Given the description of an element on the screen output the (x, y) to click on. 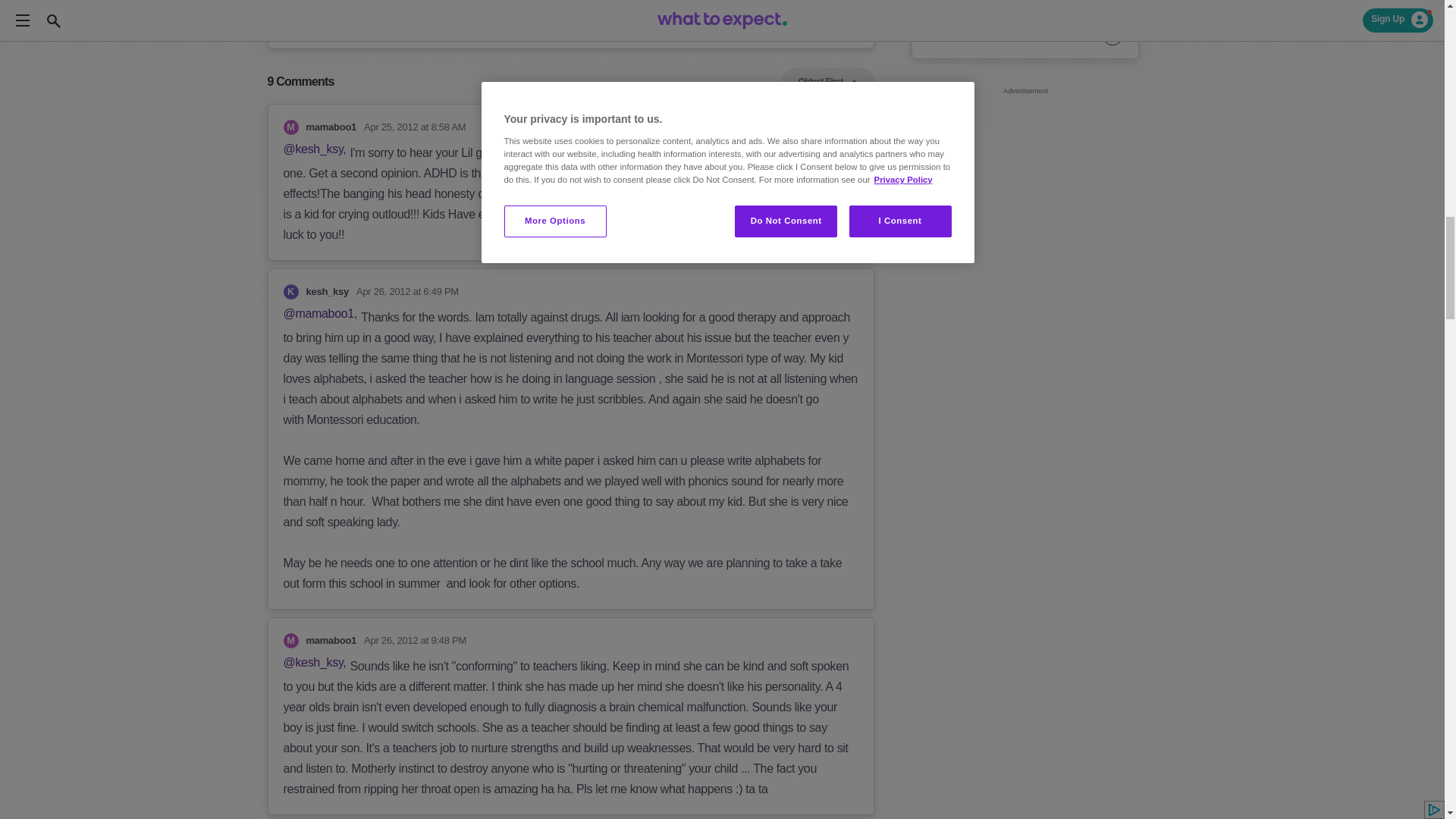
Best Pregnancy Tests (1024, 35)
Pregnancy Symptoms (1024, 6)
